Given the description of an element on the screen output the (x, y) to click on. 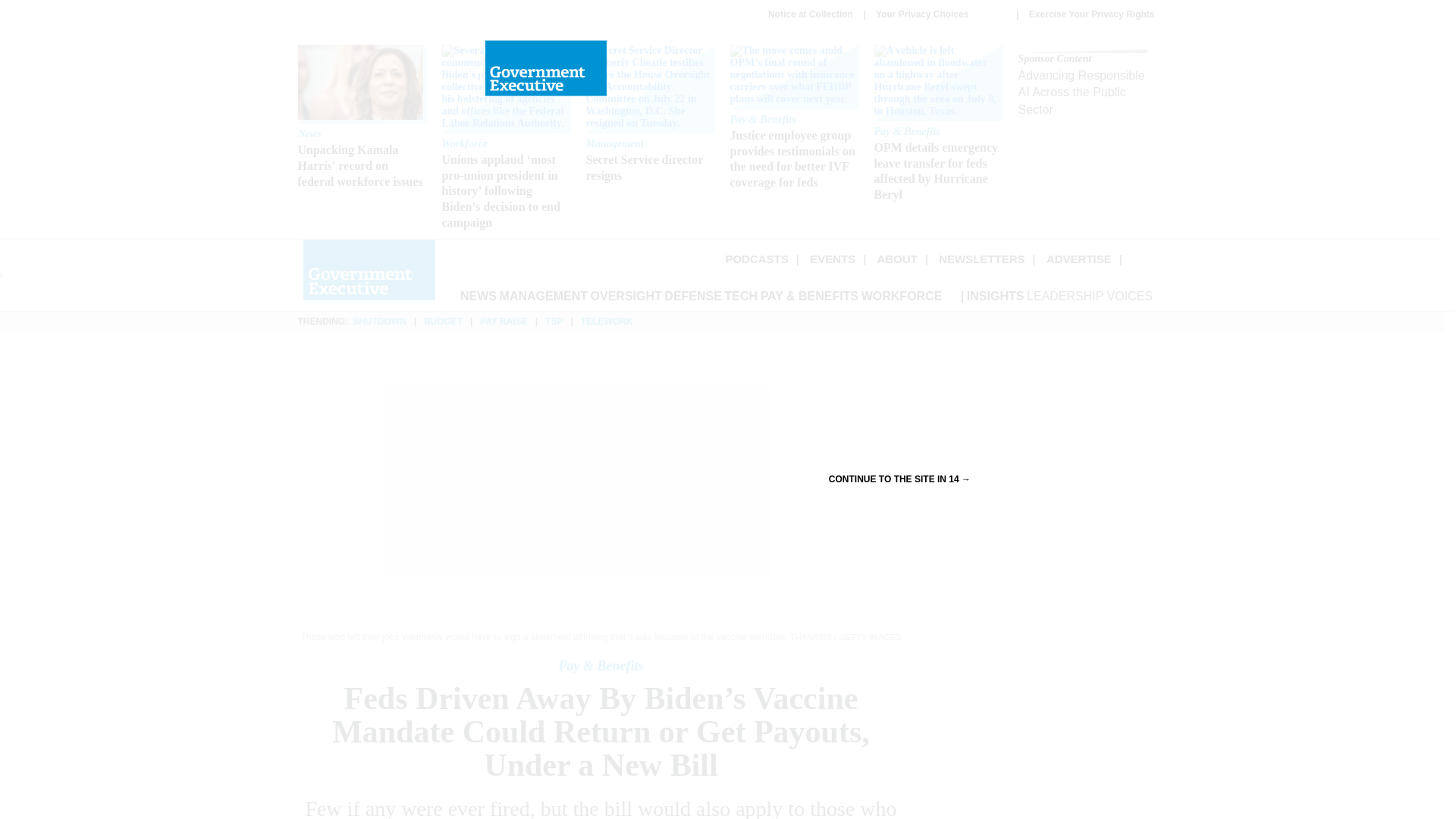
PODCASTS (756, 258)
Exercise Your Privacy Rights (1091, 14)
Your Privacy Choices (941, 14)
Notice at Collection (810, 14)
EVENTS (649, 114)
ADVERTISE (832, 258)
NEWSLETTERS (1079, 258)
3rd party ad content (982, 258)
